Given the description of an element on the screen output the (x, y) to click on. 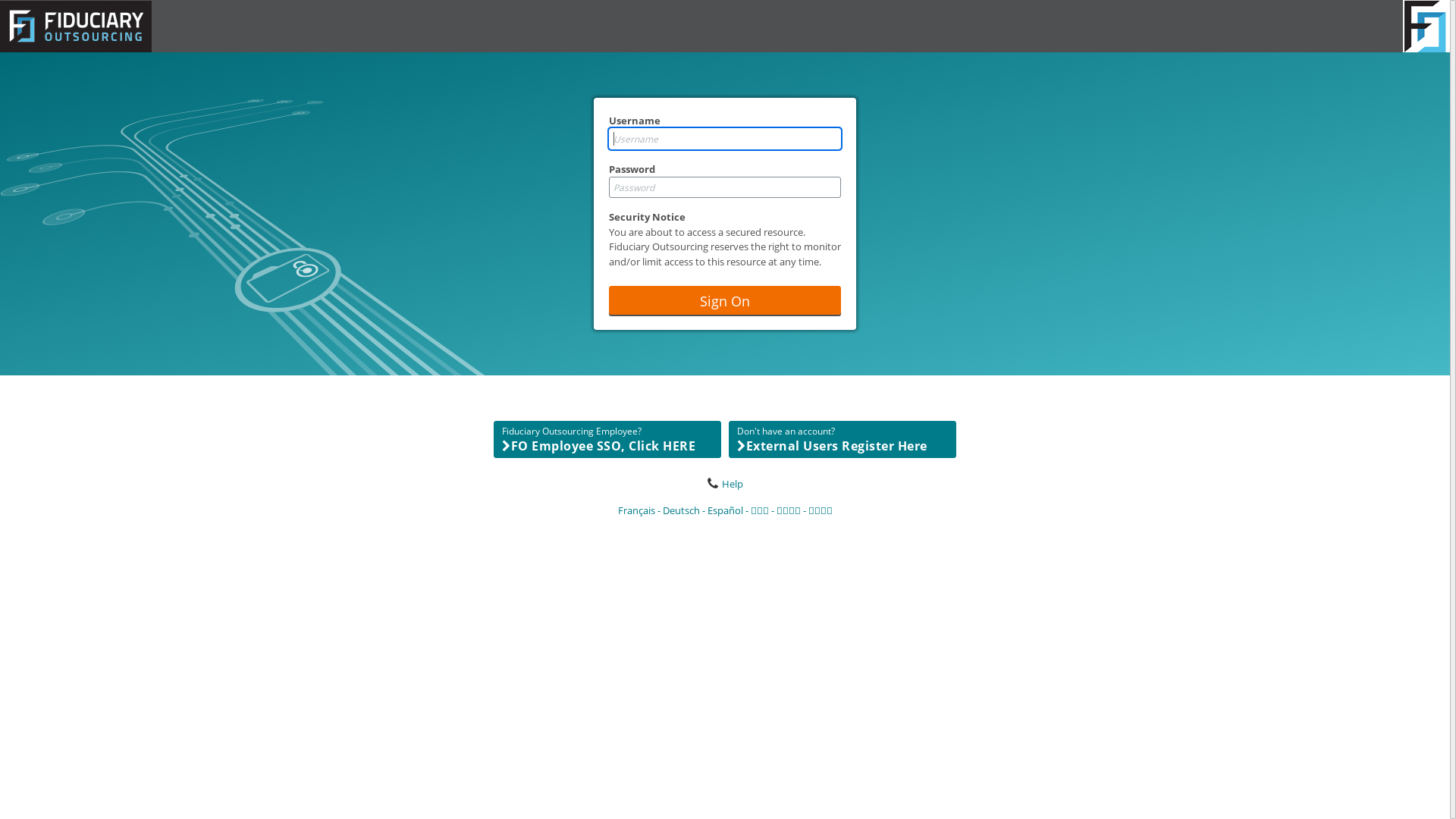
Deutsch Element type: text (684, 510)
Don't have an account?
External Users Register Here Element type: text (842, 439)
Fiduciary Outsourcing Employee?
FO Employee SSO, Click HERE Element type: text (607, 439)
Help Element type: text (724, 483)
Sign On Element type: text (724, 299)
